Given the description of an element on the screen output the (x, y) to click on. 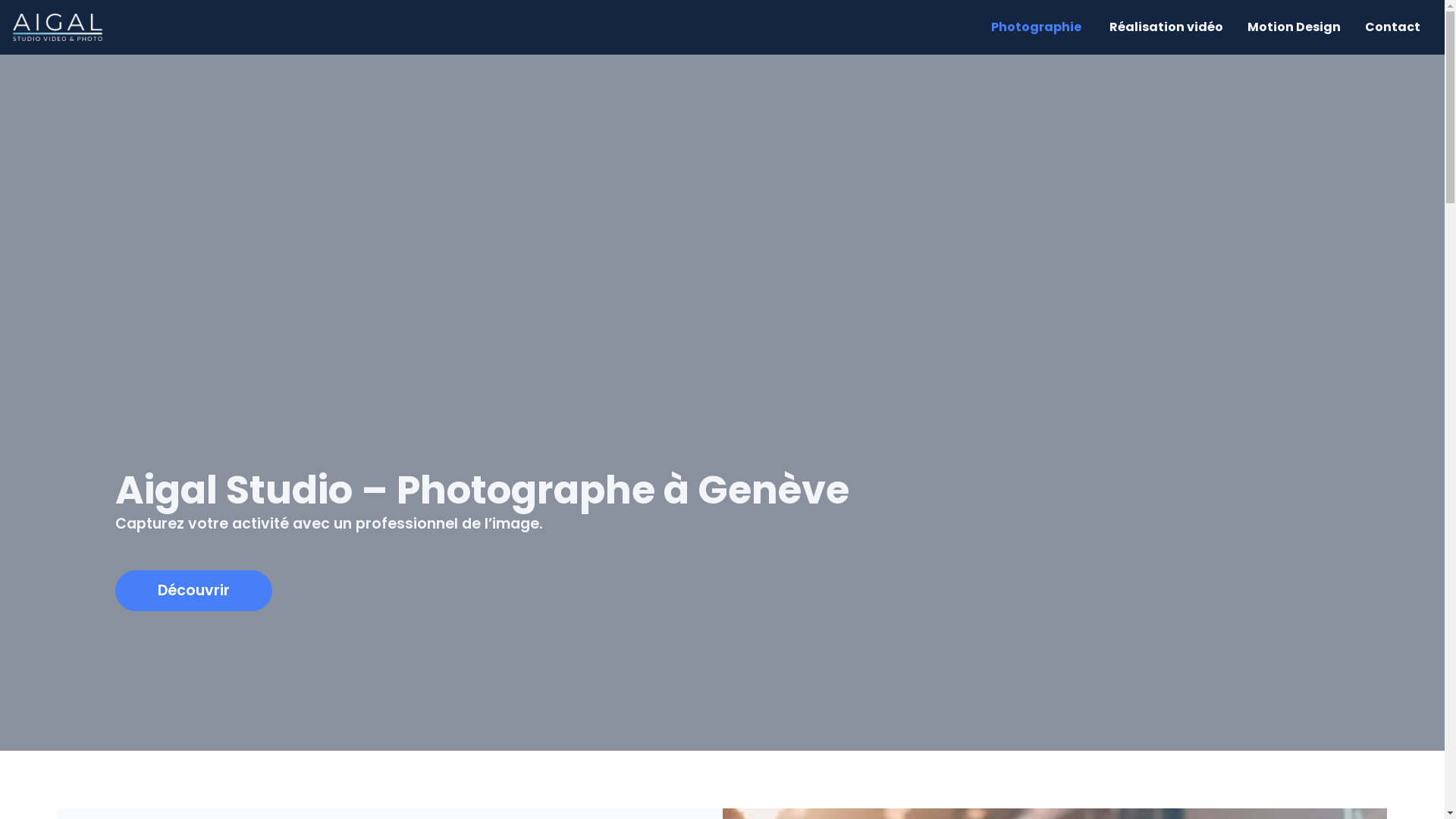
Photographie Element type: text (1036, 27)
Contact Element type: text (1392, 27)
Motion Design Element type: text (1293, 27)
